Given the description of an element on the screen output the (x, y) to click on. 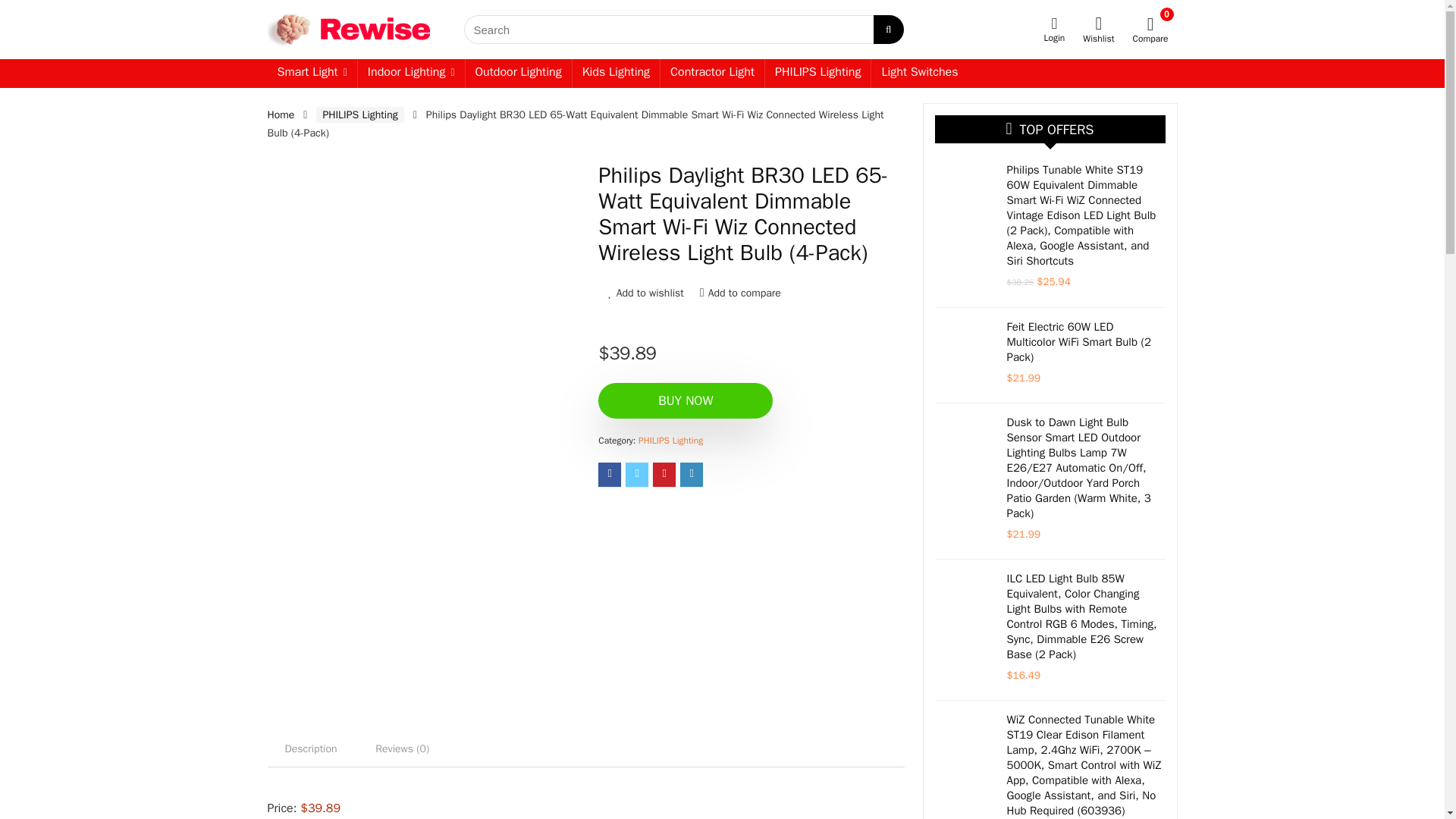
PHILIPS Lighting (671, 440)
Description (309, 749)
Kids Lighting (615, 72)
PHILIPS Lighting (817, 72)
Indoor Lighting (411, 72)
Light Switches (919, 72)
Home (280, 114)
Contractor Light (712, 72)
PHILIPS Lighting (359, 114)
BUY NOW (685, 400)
